Given the description of an element on the screen output the (x, y) to click on. 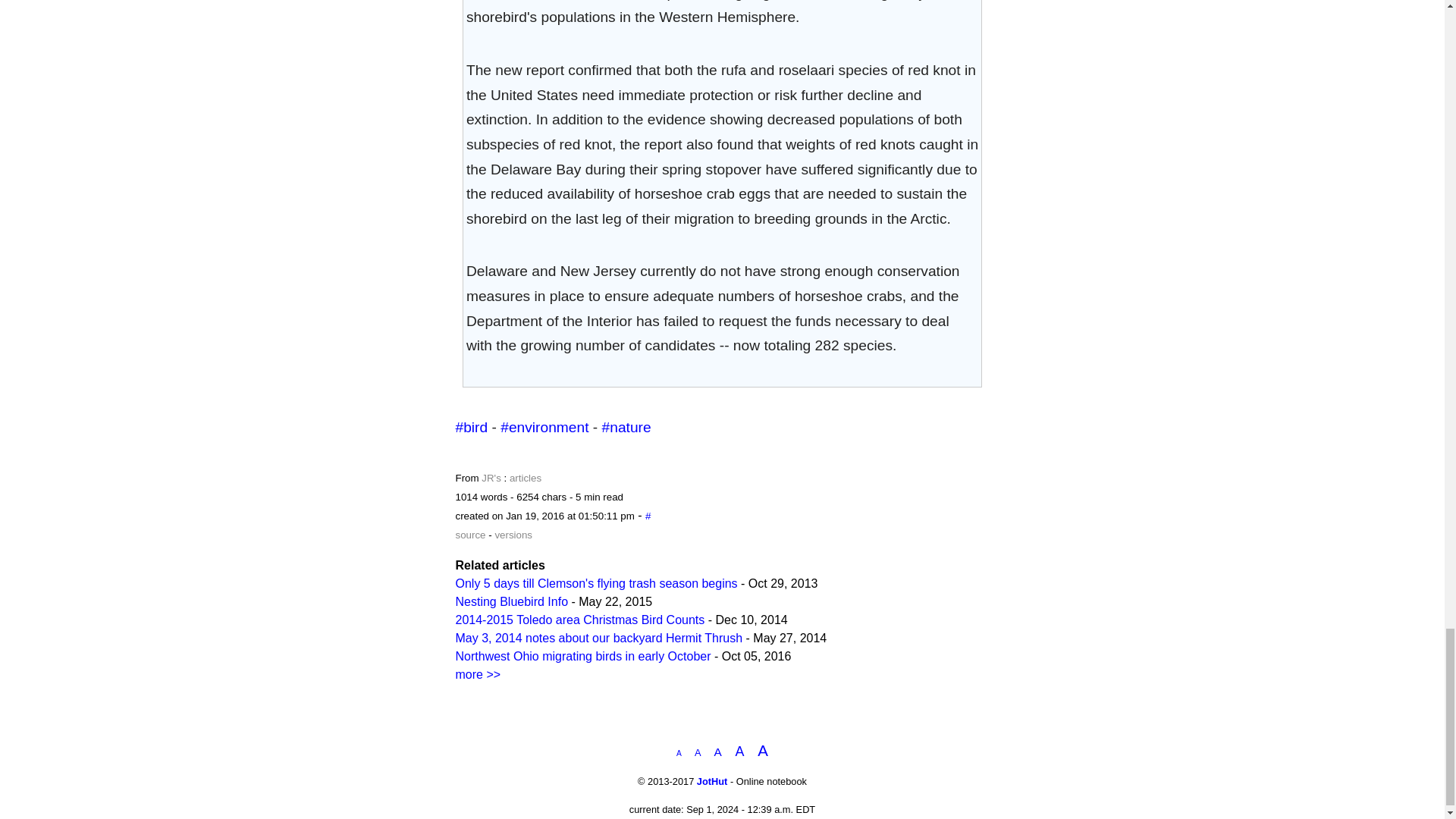
JR's (490, 478)
A (762, 752)
source (469, 534)
JotHut (712, 781)
Only 5 days till Clemson's flying trash season begins (595, 583)
versions (513, 534)
2014-2015 Toledo area Christmas Bird Counts (579, 619)
articles (525, 478)
Switch to very large text size (762, 752)
Nesting Bluebird Info (510, 601)
